Given the description of an element on the screen output the (x, y) to click on. 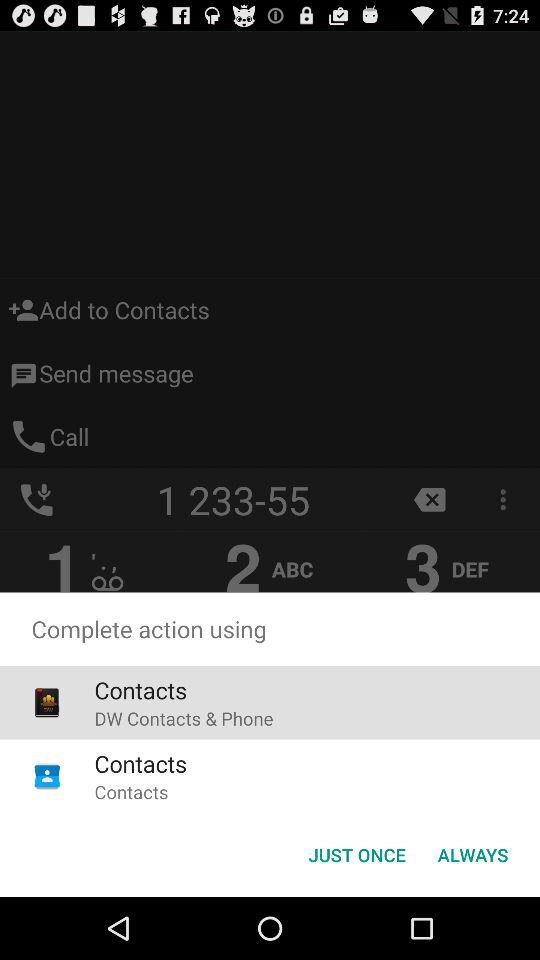
scroll to the dw contacts & phone (183, 718)
